Given the description of an element on the screen output the (x, y) to click on. 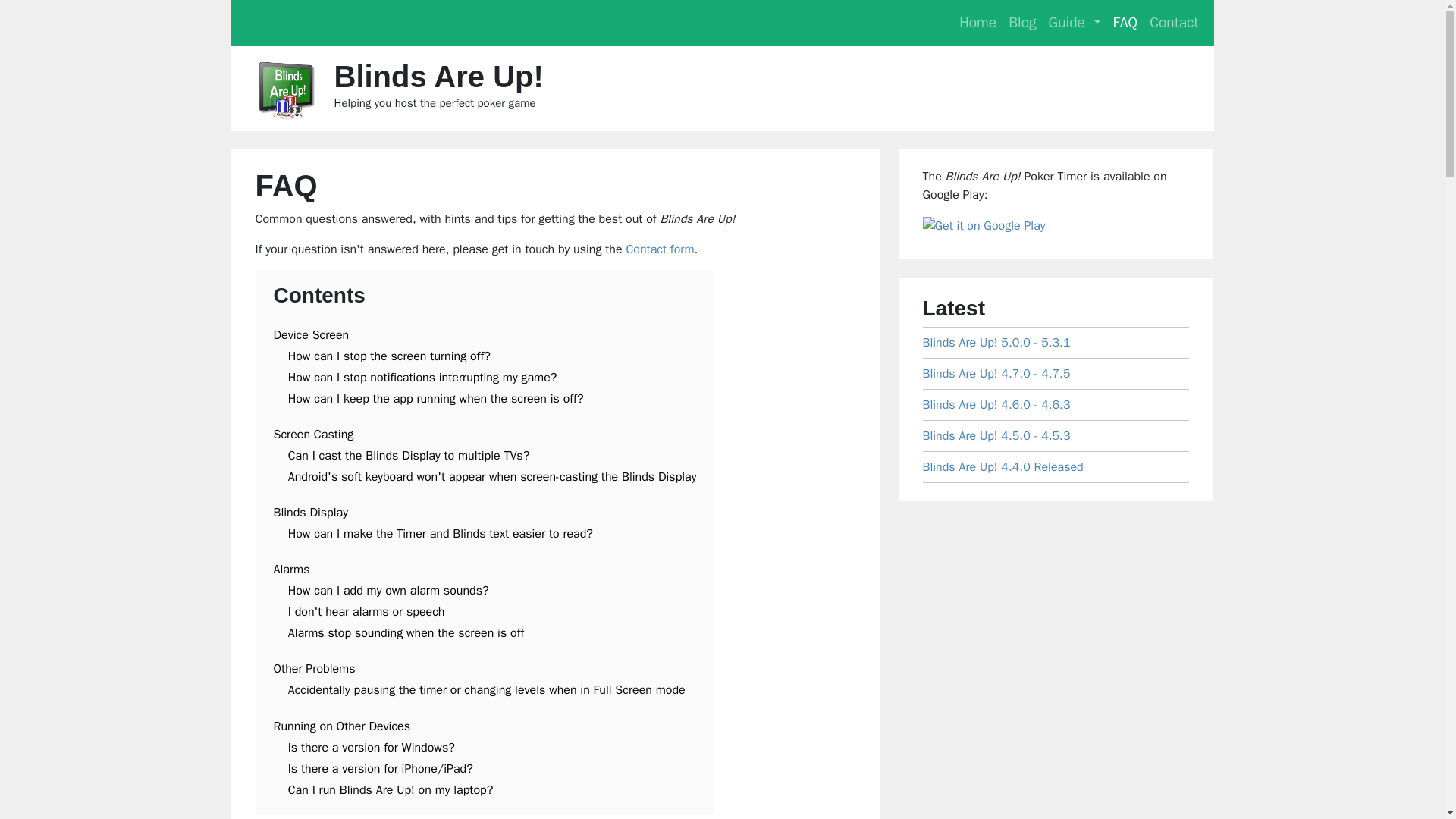
How can I add my own alarm sounds? (388, 590)
How can I make the Timer and Blinds text easier to read? (440, 533)
Running on Other Devices (341, 726)
Can I run Blinds Are Up! on my laptop? (390, 789)
Guide (1074, 22)
Home (978, 22)
Contact (1173, 22)
Other Problems (314, 668)
How can I stop the screen turning off? (389, 355)
Can I cast the Blinds Display to multiple TVs? (408, 455)
